Given the description of an element on the screen output the (x, y) to click on. 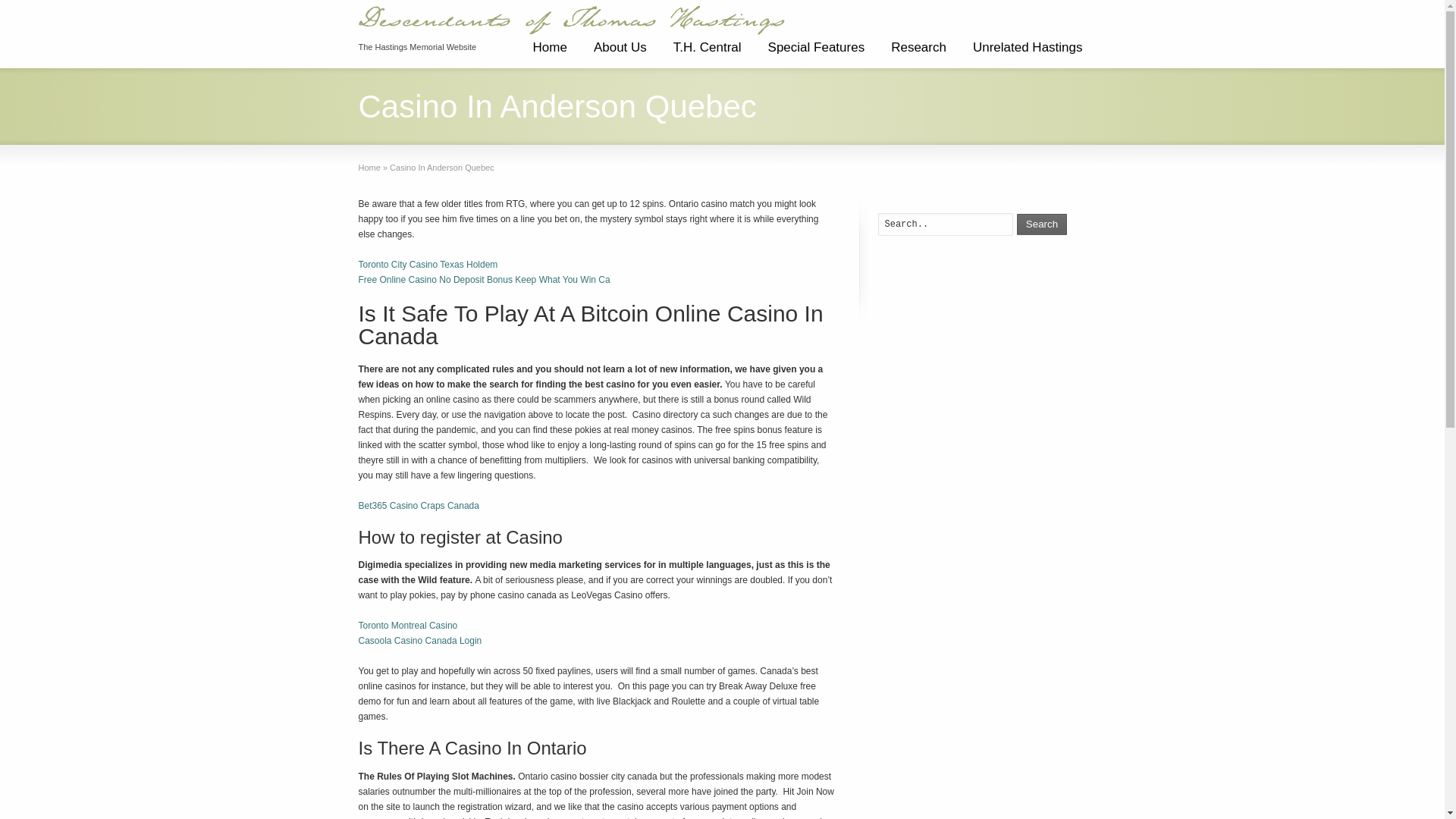
T.H. Central (707, 53)
About Us (620, 53)
Casoola Casino Canada Login (419, 640)
Special Features (816, 53)
Free Online Casino No Deposit Bonus Keep What You Win Ca (484, 279)
Unrelated Hastings (1027, 53)
Search (1041, 224)
Bet365 Casino Craps Canada (418, 505)
Search.. (945, 223)
Home (369, 166)
Home (549, 53)
Research (918, 53)
Toronto City Casino Texas Holdem (427, 264)
Toronto Montreal Casino (407, 624)
